Given the description of an element on the screen output the (x, y) to click on. 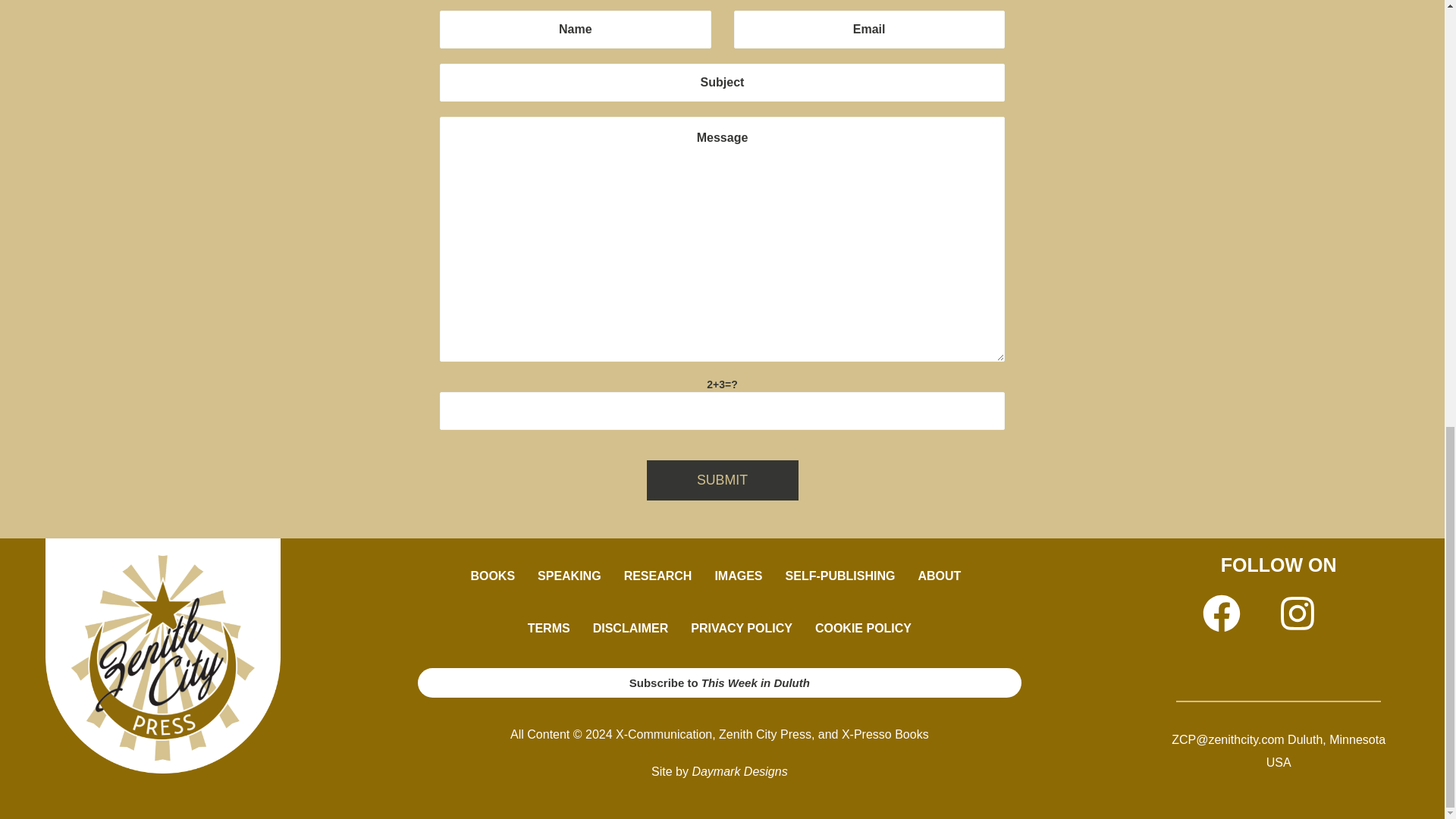
BOOKS (491, 575)
SELF-PUBLISHING (840, 575)
Submit (721, 480)
SPEAKING (568, 575)
RESEARCH (657, 575)
DISCLAIMER (629, 628)
Subscribe to This Week in Duluth (719, 682)
ABOUT (942, 575)
Submit (721, 480)
IMAGES (738, 575)
